Given the description of an element on the screen output the (x, y) to click on. 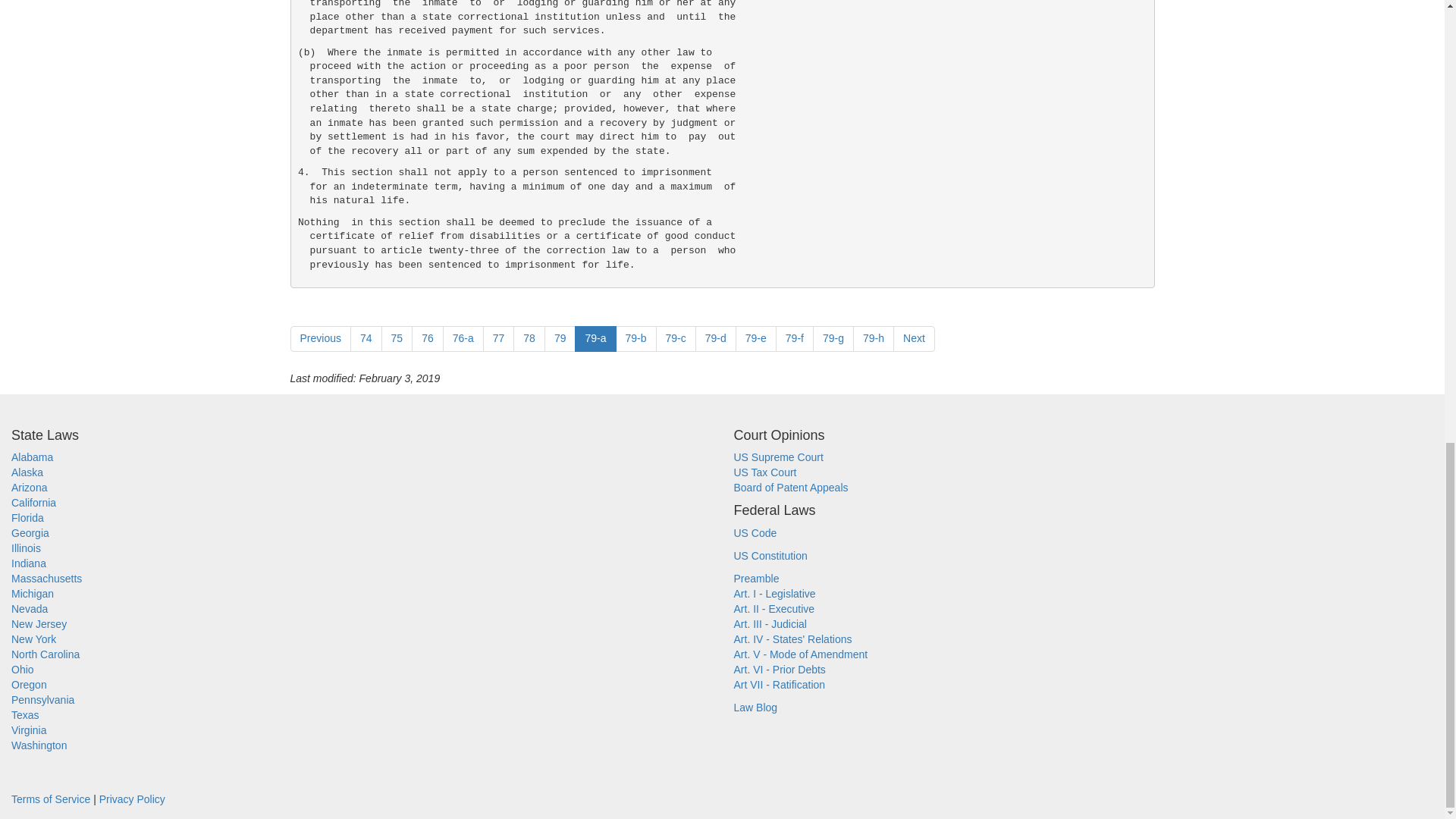
New Jersey (38, 623)
Arizona (28, 487)
Georgia (30, 532)
74 (365, 338)
Indiana (28, 563)
75 (397, 338)
76-a (462, 338)
79-f (794, 338)
77 (499, 338)
Illinois (25, 548)
